Given the description of an element on the screen output the (x, y) to click on. 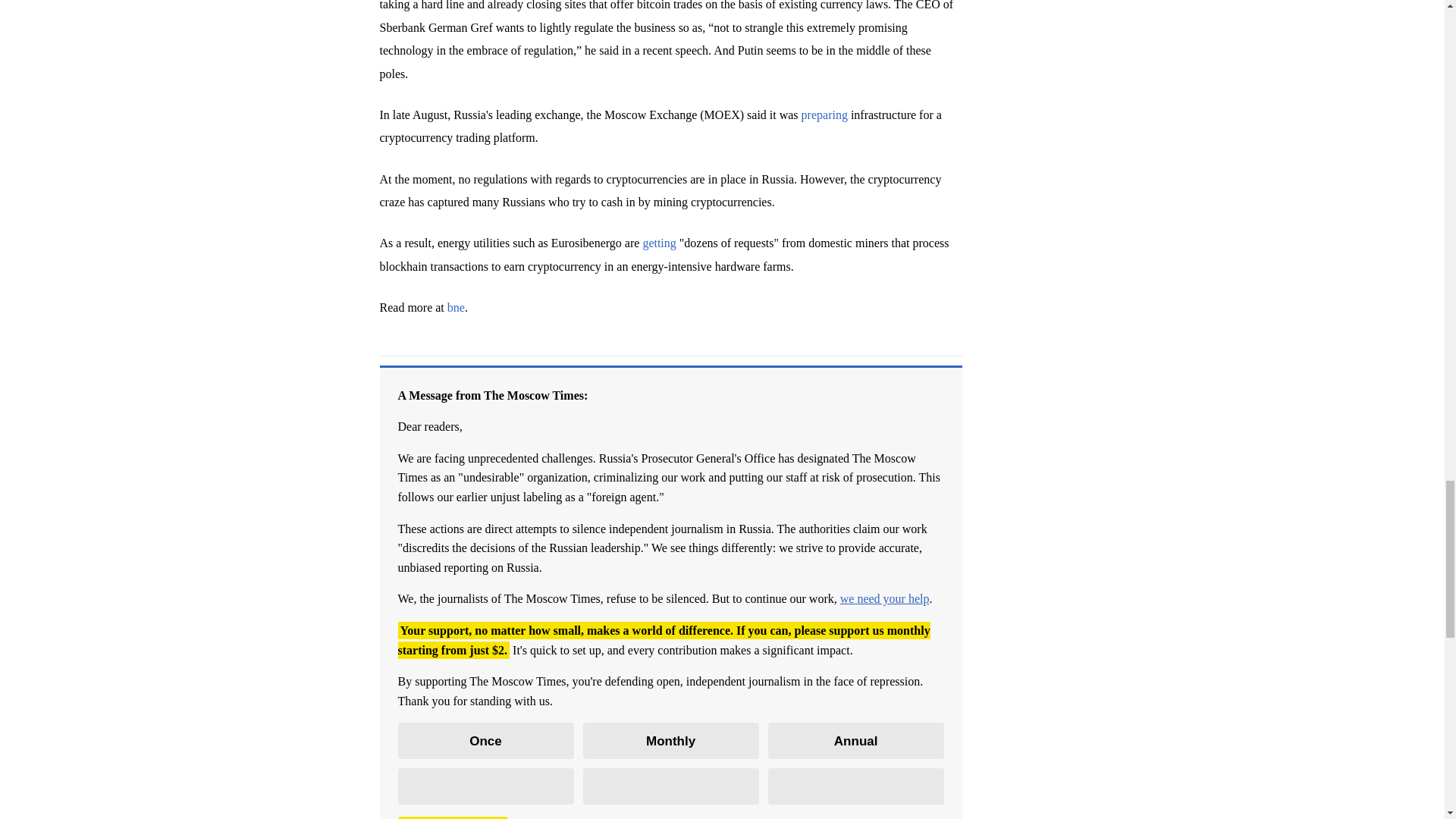
we need your help (885, 598)
